Given the description of an element on the screen output the (x, y) to click on. 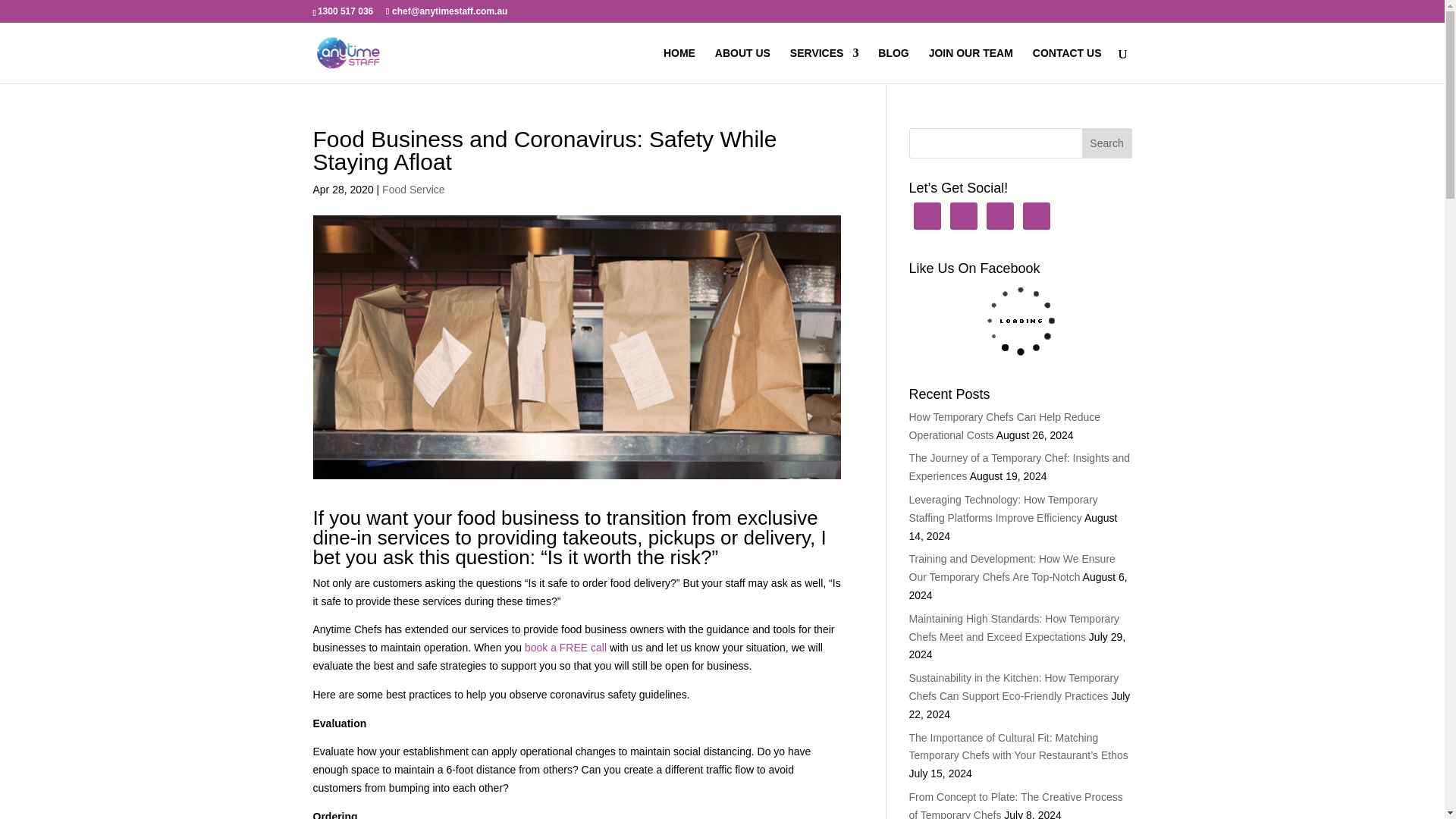
ABOUT US (742, 65)
The Journey of a Temporary Chef: Insights and Experiences (1018, 467)
Food Service (412, 189)
HOME (679, 65)
JOIN OUR TEAM (970, 65)
SERVICES (824, 65)
book a FREE call (565, 647)
